Given the description of an element on the screen output the (x, y) to click on. 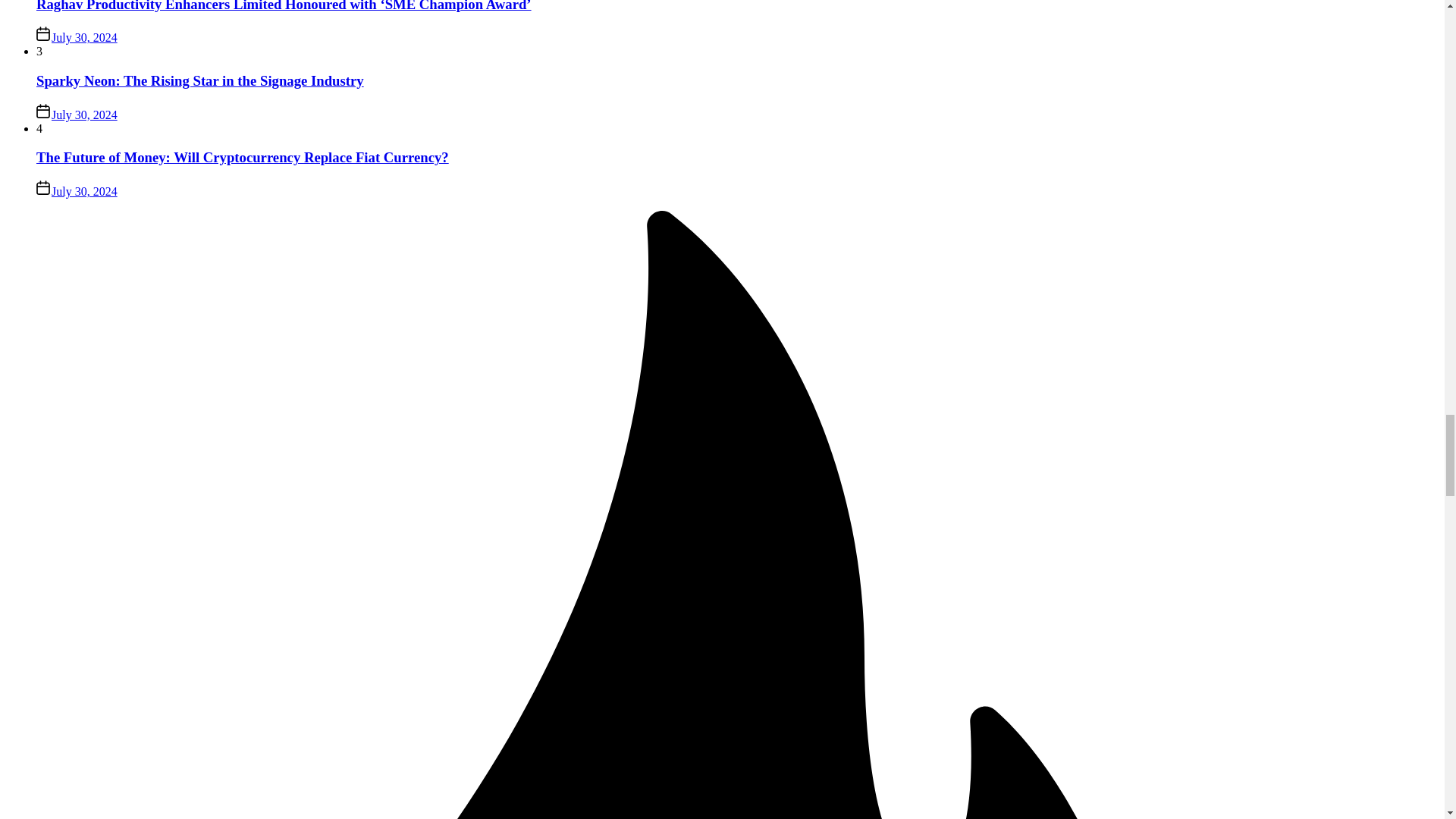
Sparky Neon: The Rising Star in the Signage Industry (200, 80)
